Given the description of an element on the screen output the (x, y) to click on. 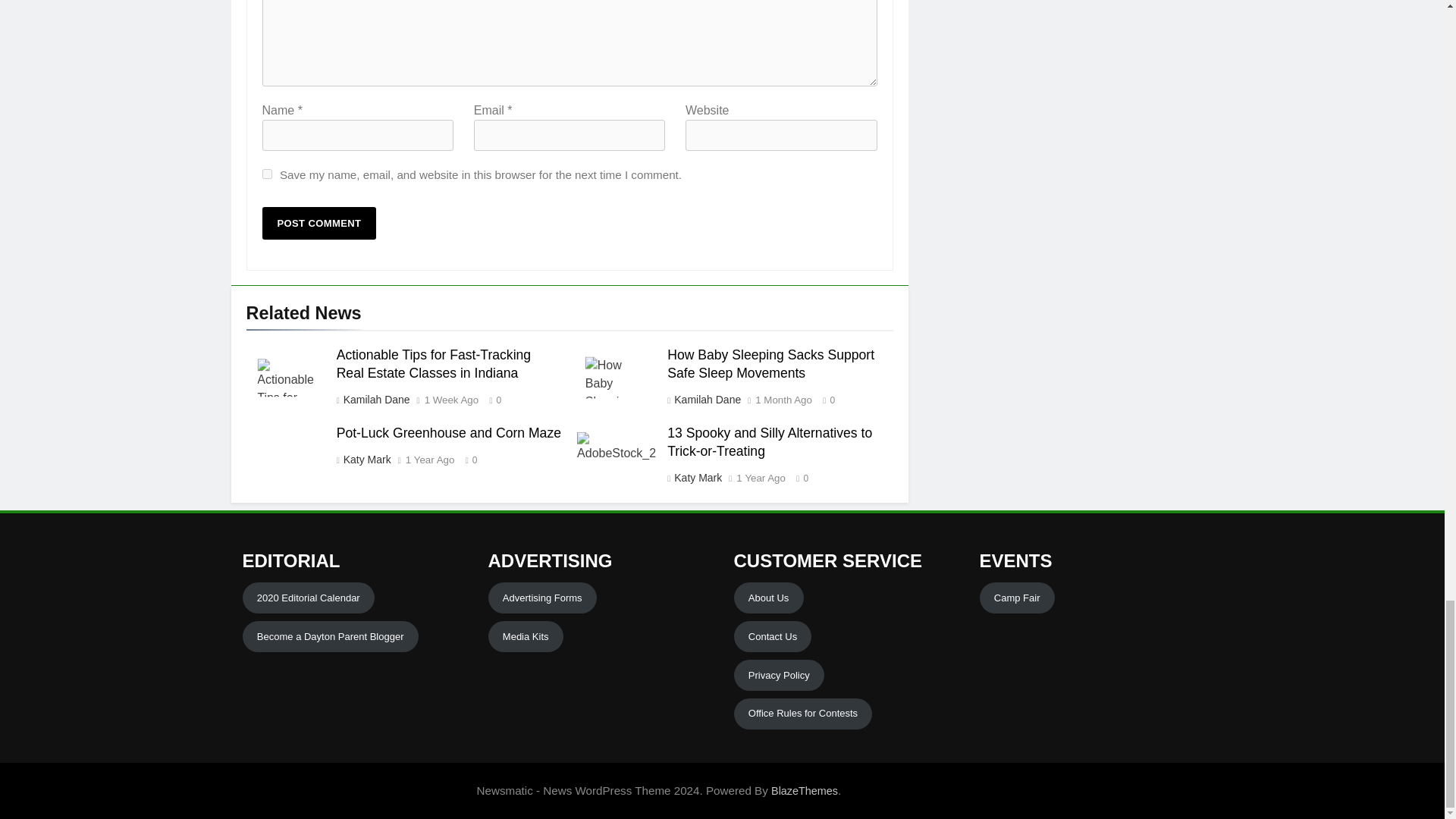
yes (267, 173)
Post Comment (319, 223)
